Given the description of an element on the screen output the (x, y) to click on. 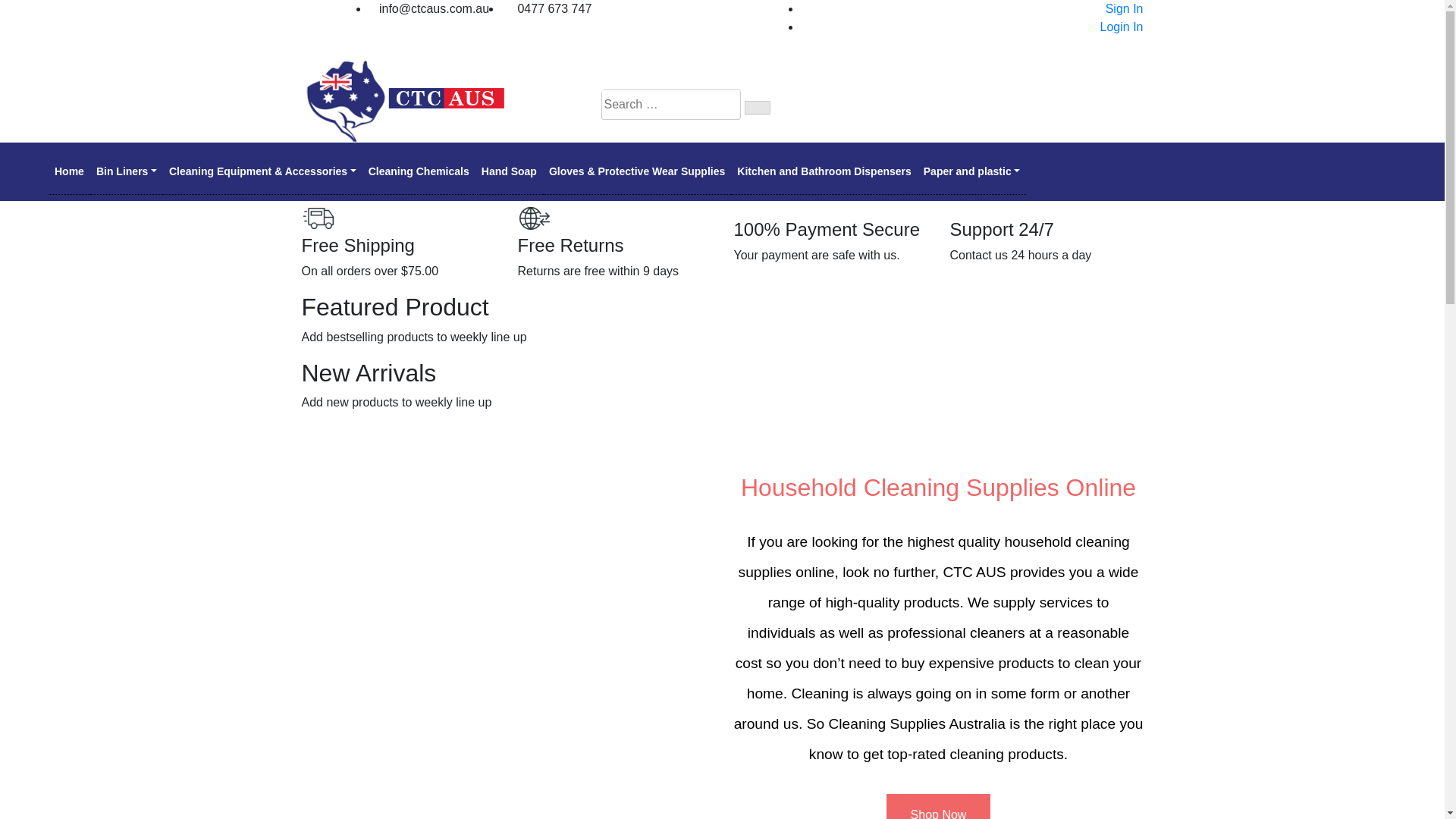
Paper and plastic Element type: text (971, 171)
Search Element type: text (757, 107)
Home Element type: text (69, 171)
Cleaning Equipment & Accessories Element type: text (262, 171)
Hand Soap Element type: text (508, 171)
Bin Liners Element type: text (126, 171)
Sign In Element type: text (1121, 8)
Gloves & Protective Wear Supplies Element type: text (636, 171)
Cleaning Chemicals Element type: text (418, 171)
Kitchen and Bathroom Dispensers Element type: text (824, 171)
Login In Element type: text (1119, 26)
